Given the description of an element on the screen output the (x, y) to click on. 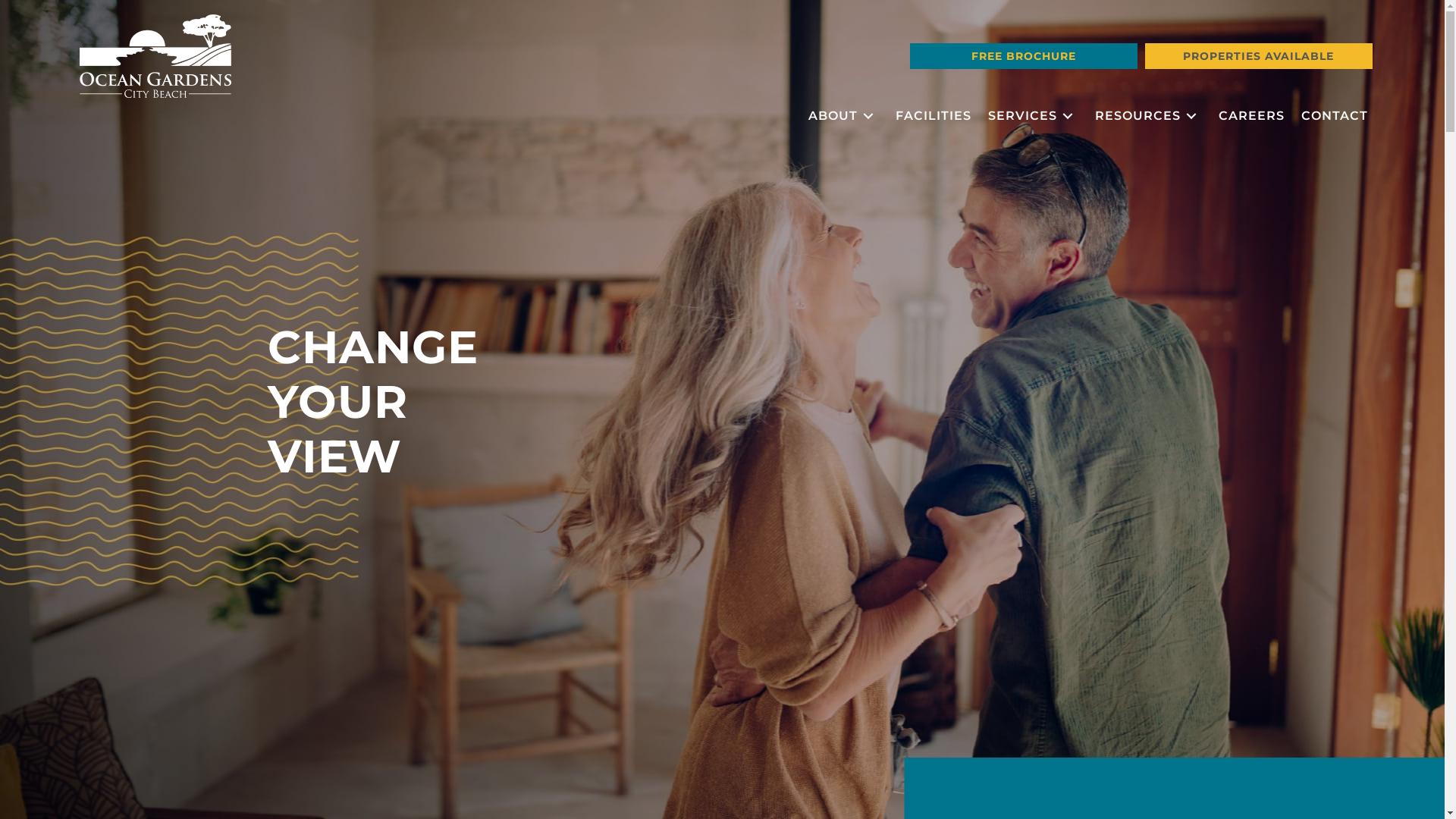
RESOURCES Element type: text (1147, 115)
CAREERS Element type: text (1251, 115)
CONTACT Element type: text (1333, 115)
FREE BROCHURE Element type: text (1023, 56)
SERVICES Element type: text (1032, 115)
ABOUT Element type: text (843, 115)
FACILITIES Element type: text (932, 115)
PROPERTIES AVAILABLE Element type: text (1258, 56)
